Given the description of an element on the screen output the (x, y) to click on. 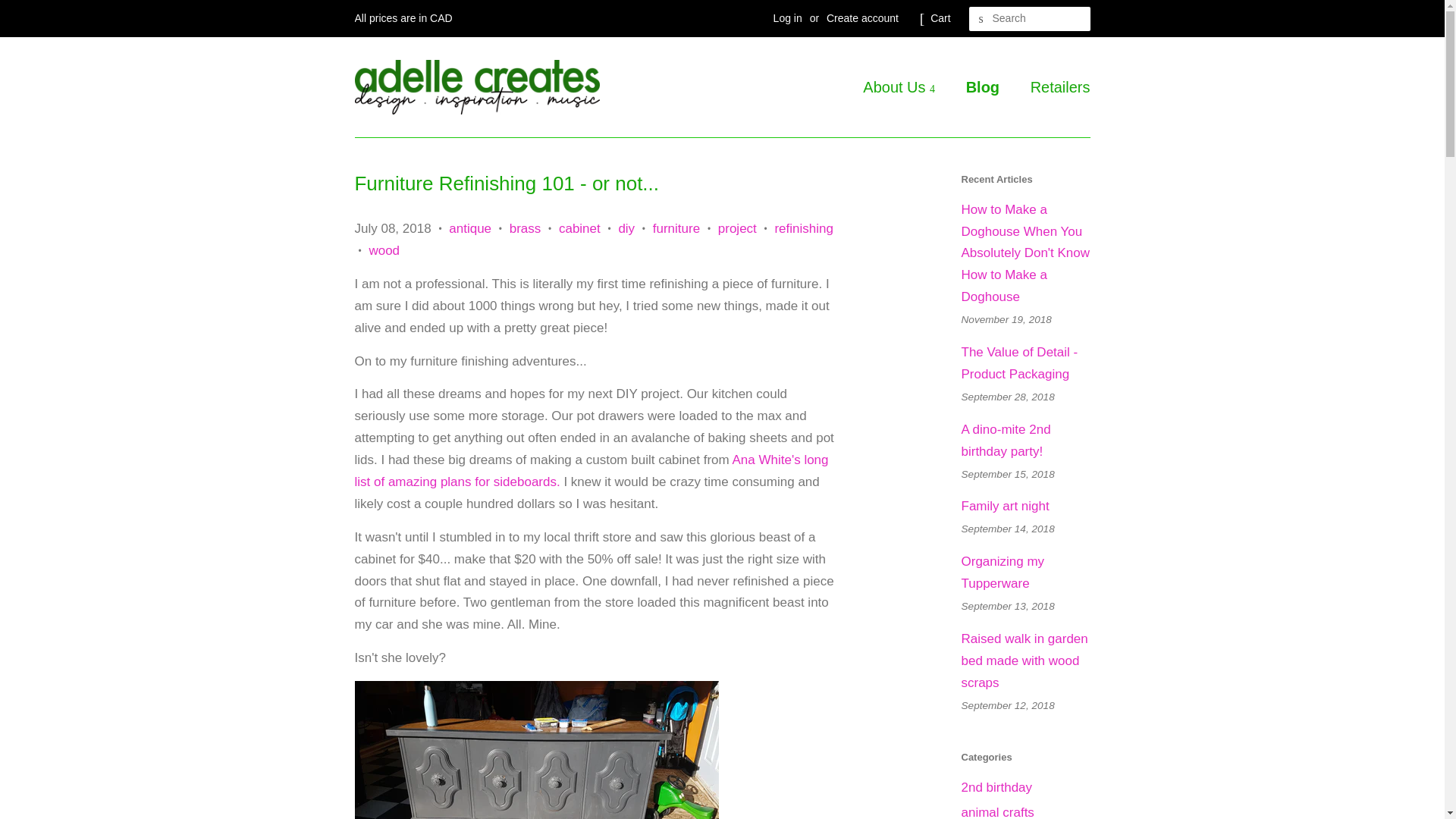
Ana White's long list of amazing plans for sideboards. (591, 470)
About Us (906, 86)
Show articles tagged animal crafts (996, 812)
Ana White Sideboard Plans (591, 470)
Organizing my Tupperware (1002, 572)
Family art night (1004, 505)
refinishing (803, 228)
Retailers (1054, 86)
Show articles tagged 2nd birthday (996, 787)
Cart (940, 18)
